Given the description of an element on the screen output the (x, y) to click on. 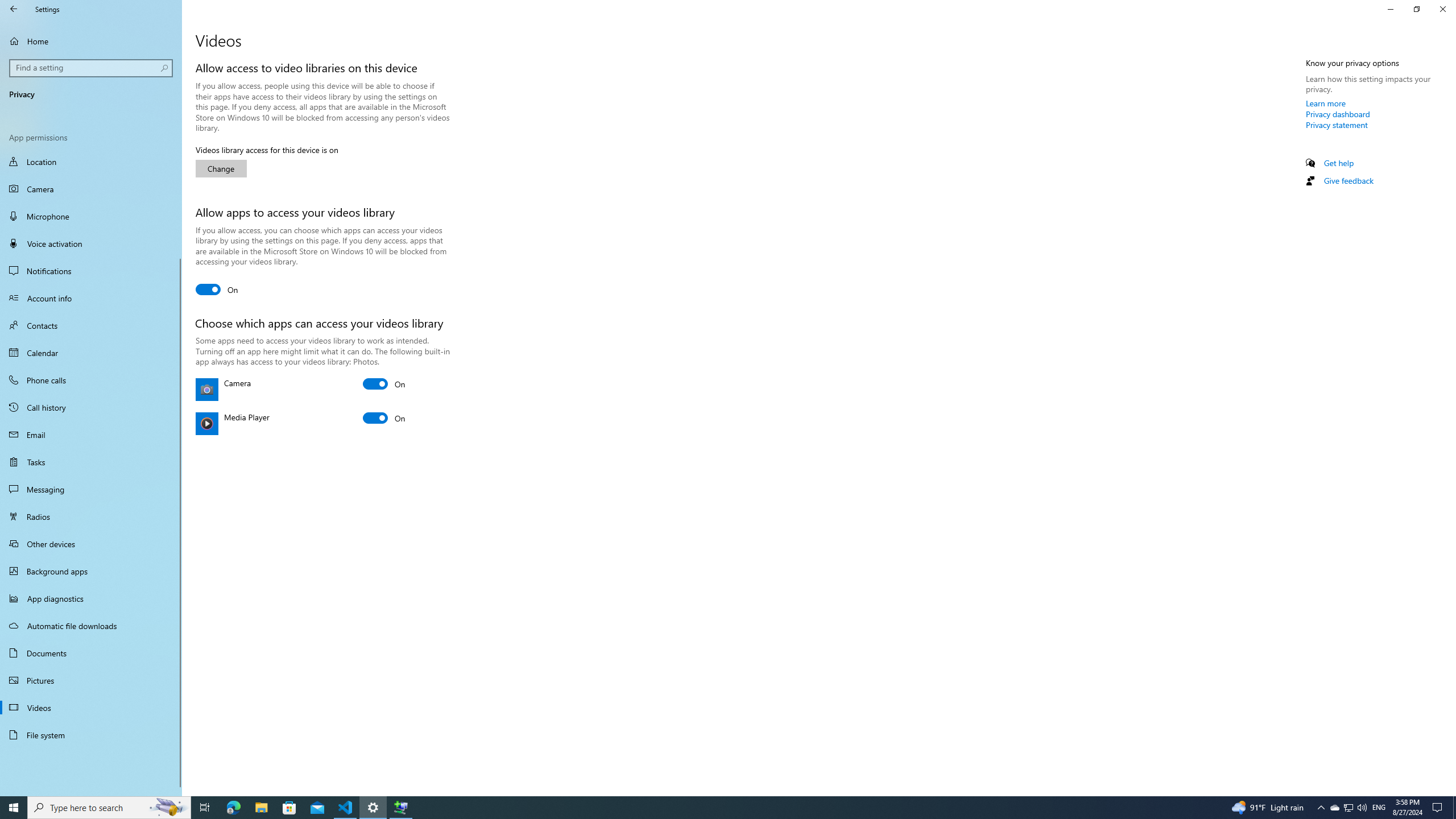
Running applications (706, 807)
Allow apps to access your videos library (216, 289)
Privacy statement (1336, 124)
Camera (384, 384)
Get help (1338, 162)
Give feedback (1348, 180)
Notifications (91, 270)
Pictures (91, 679)
Email (91, 433)
Camera (91, 188)
Automatic file downloads (91, 625)
